Given the description of an element on the screen output the (x, y) to click on. 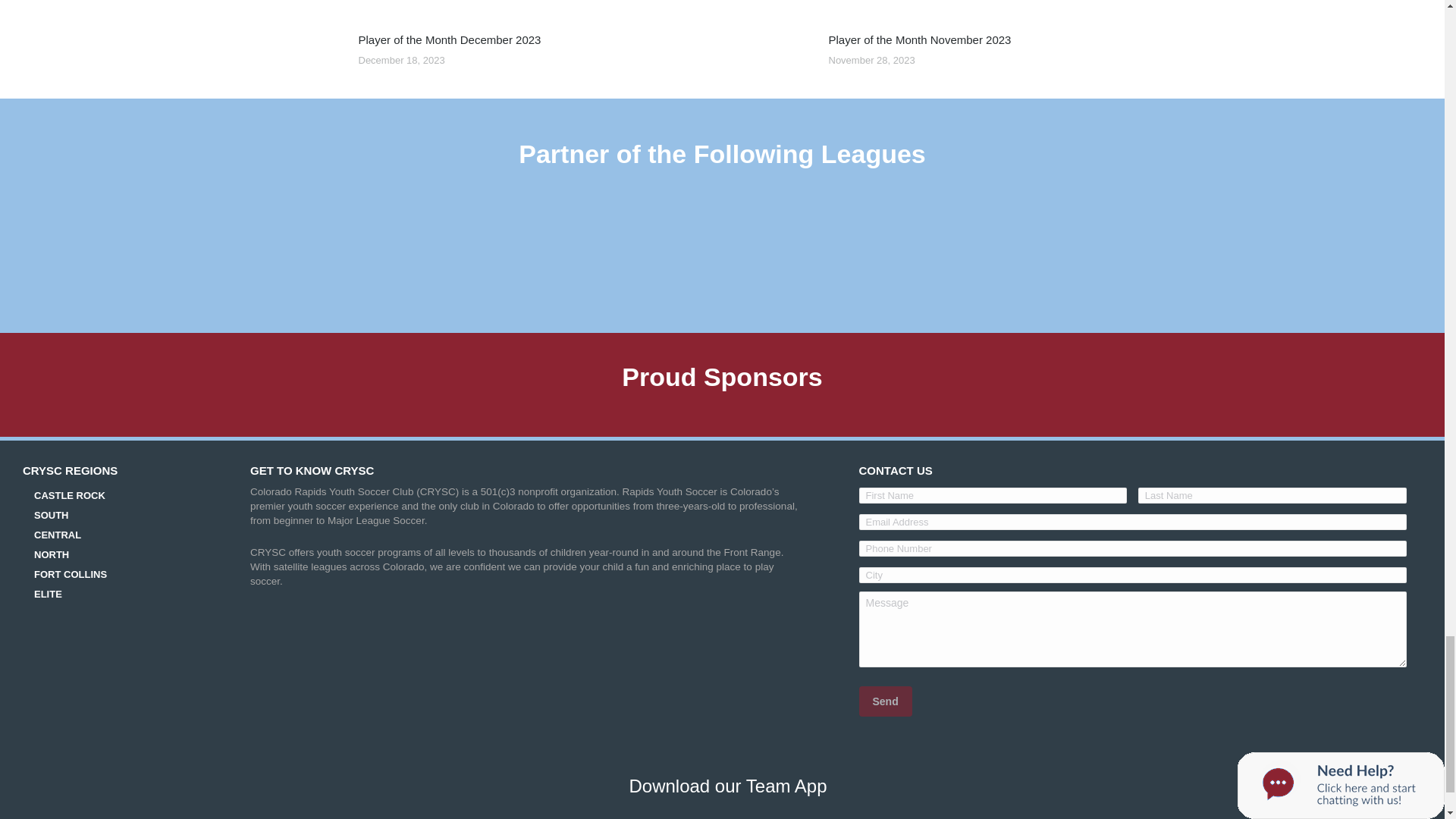
Bella-Manning-1-sq (782, 56)
Hadley-sq (312, 56)
Send (885, 701)
Izzie-Harrison (782, 5)
Kailyn-Ertler---07G-NPL (312, 5)
